Given the description of an element on the screen output the (x, y) to click on. 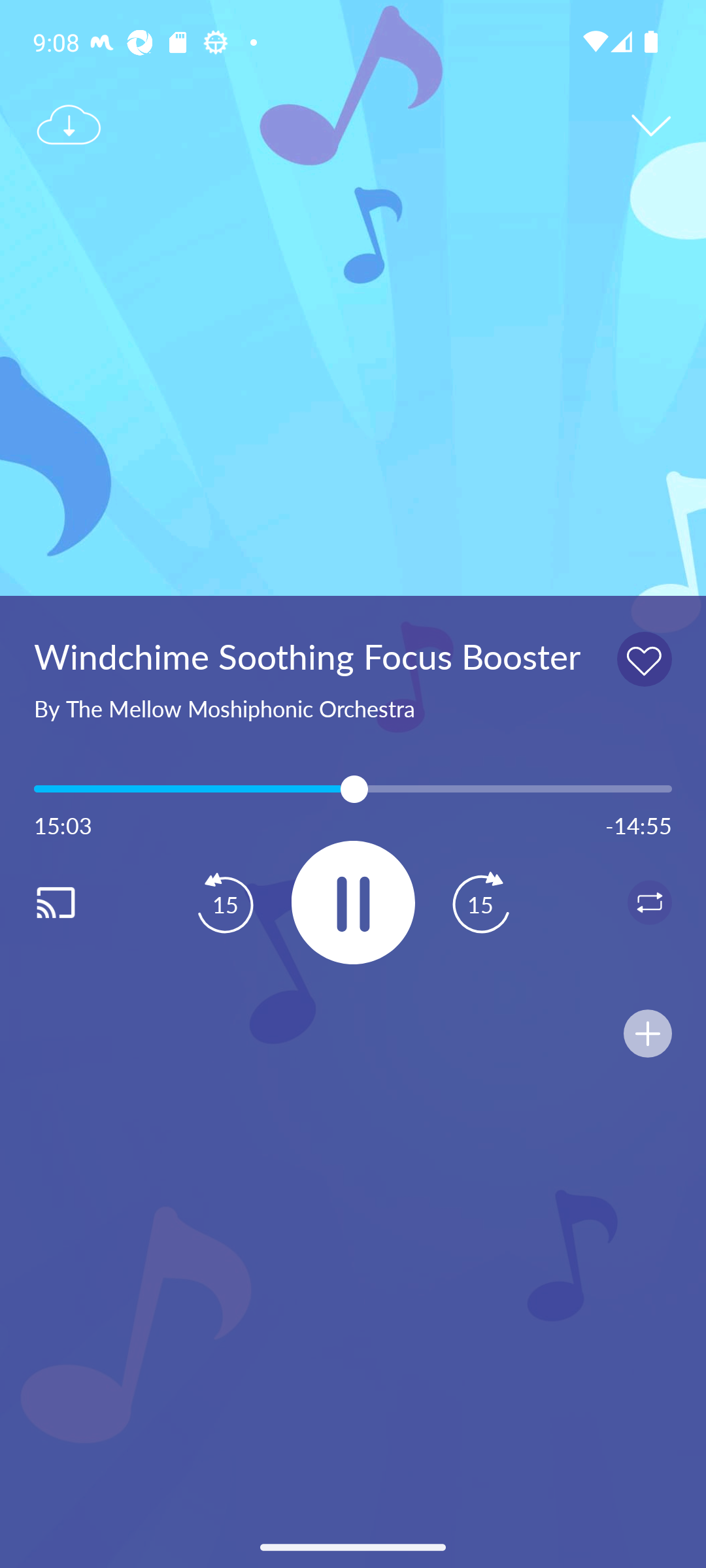
903.0 (352, 789)
Cast. Disconnected (76, 902)
